Given the description of an element on the screen output the (x, y) to click on. 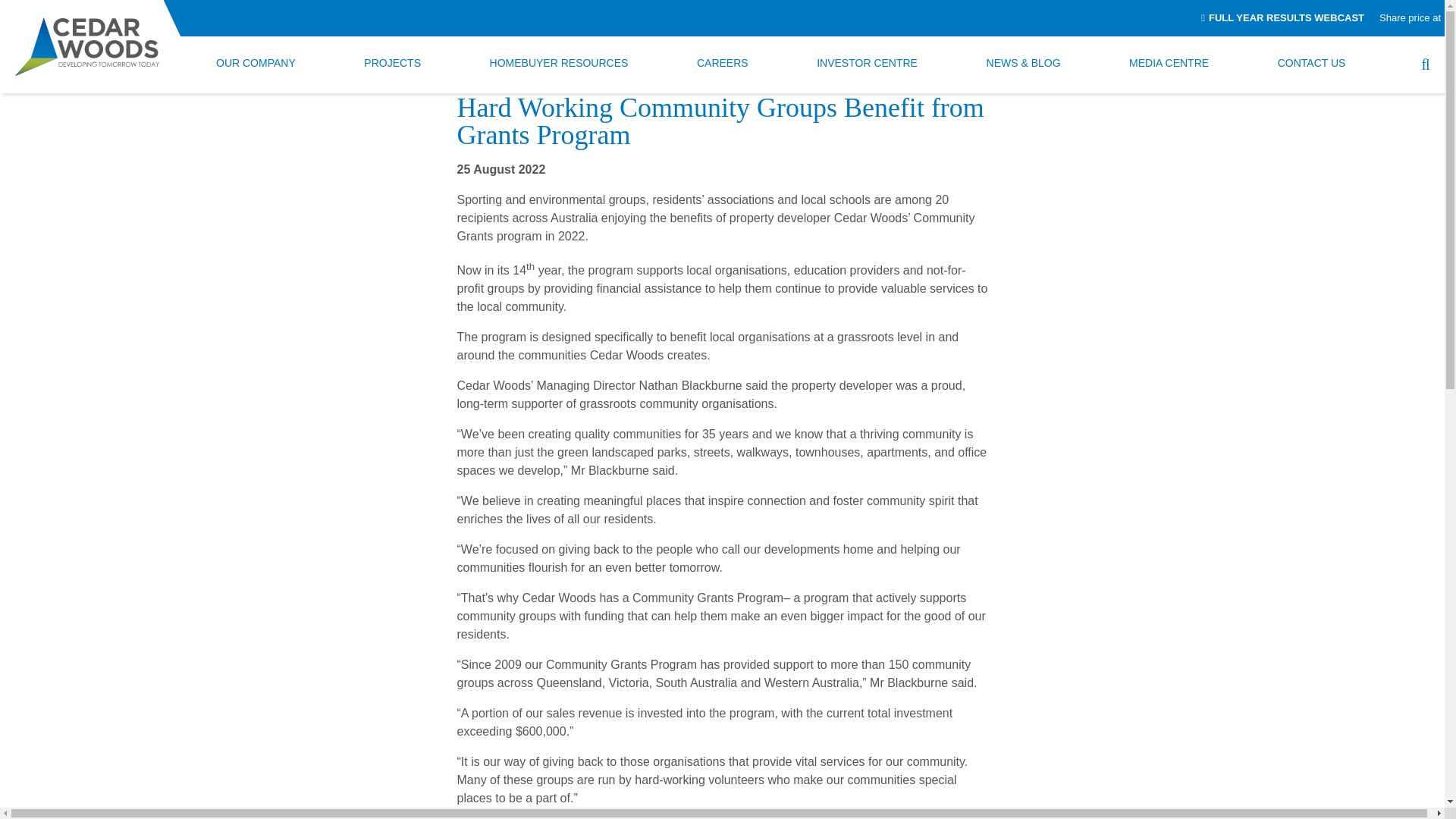
PROJECTS (392, 64)
OUR COMPANY (255, 64)
FULL YEAR RESULTS WEBCAST (1282, 17)
